Given the description of an element on the screen output the (x, y) to click on. 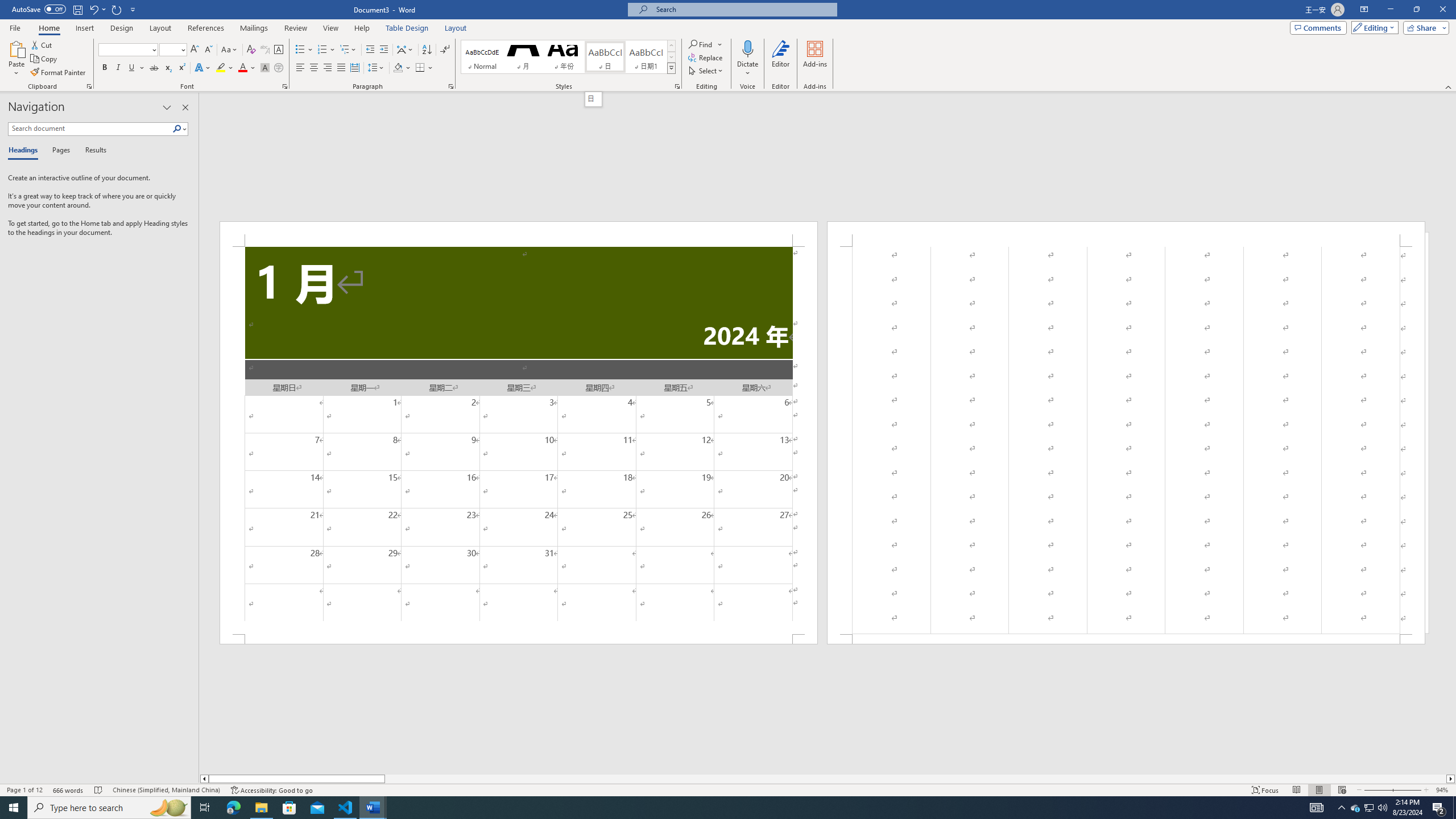
References (205, 28)
Text Highlight Color Yellow (220, 67)
Paragraph... (450, 85)
Class: MsoCommandBar (728, 789)
Find (700, 44)
Copy (45, 58)
Table Design (407, 28)
Replace... (705, 56)
Font (128, 49)
Numbering (326, 49)
Decrease Indent (370, 49)
Numbering (322, 49)
Asian Layout (405, 49)
Font (124, 49)
